Given the description of an element on the screen output the (x, y) to click on. 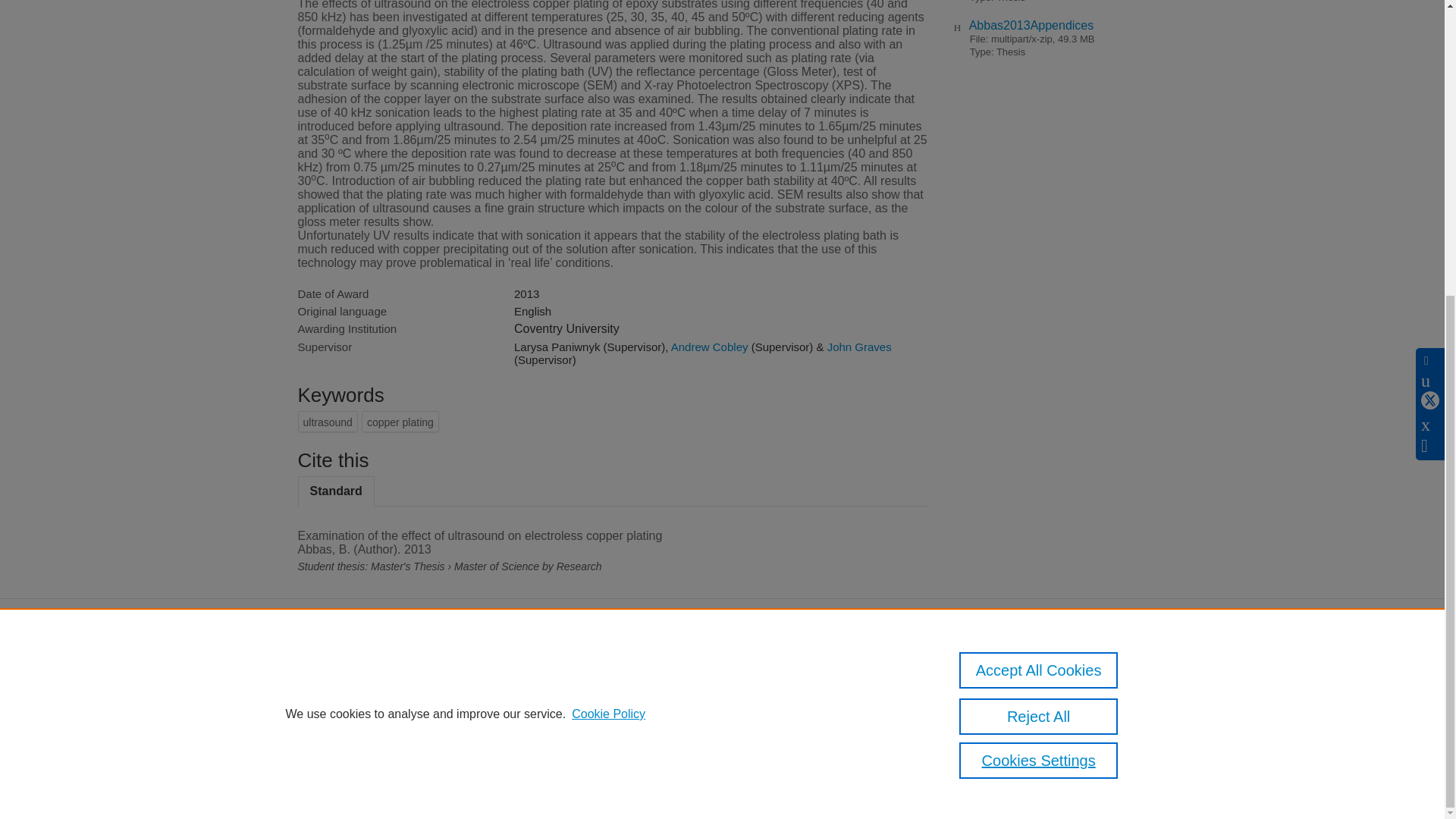
Cookie Policy (608, 259)
Cookies Settings (334, 747)
Cookies Settings (1038, 306)
Andrew Cobley (709, 346)
Log in to Pure (327, 767)
Report vulnerability (997, 726)
Pure (362, 674)
Scopus (394, 674)
Elsevier B.V. (506, 695)
Contact us (1123, 680)
